Given the description of an element on the screen output the (x, y) to click on. 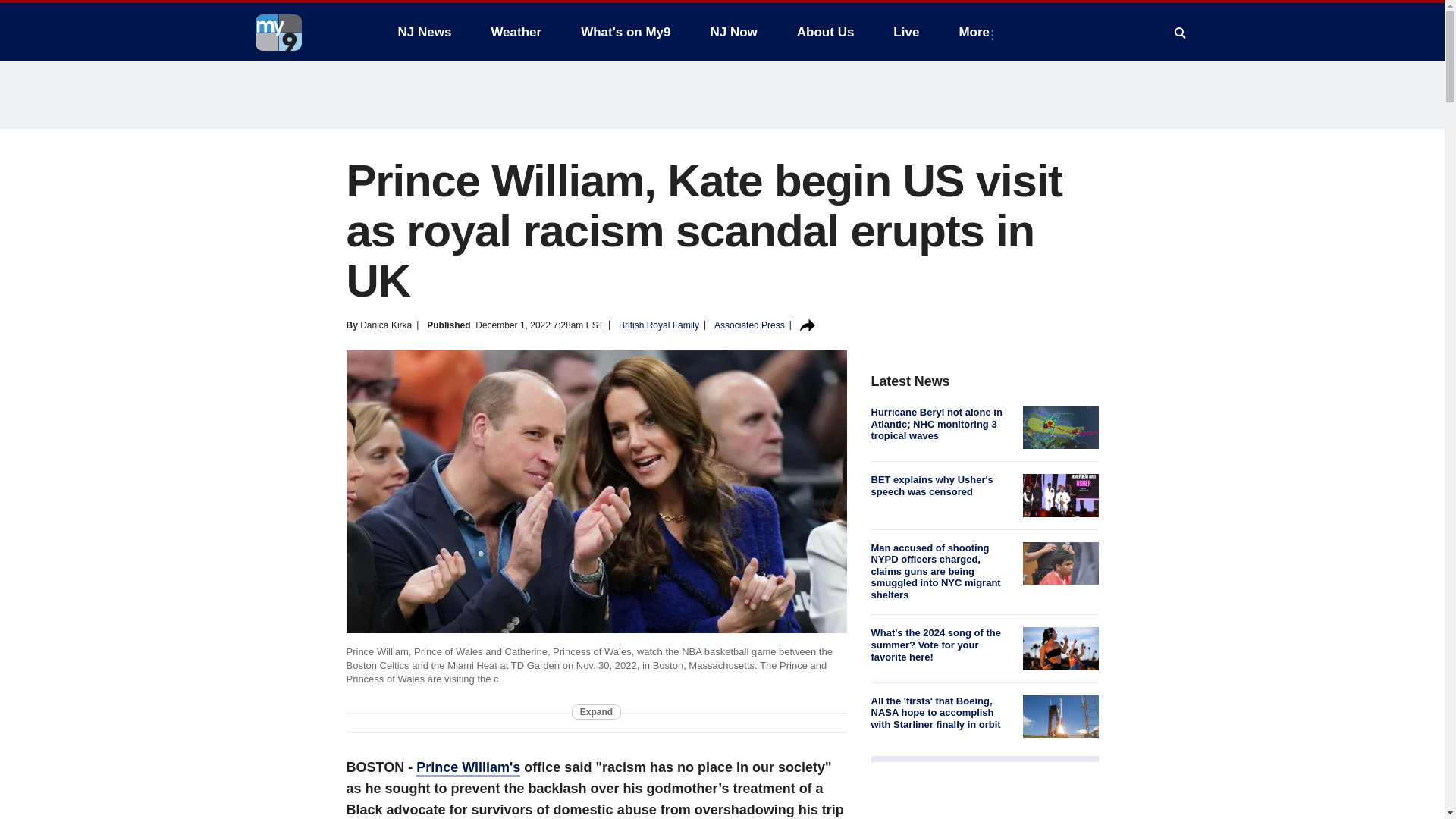
Weather (516, 32)
About Us (825, 32)
NJ News (424, 32)
NJ Now (732, 32)
Live (905, 32)
Associated Press (749, 325)
More (976, 32)
What's on My9 (625, 32)
British Royal Family (658, 325)
